Given the description of an element on the screen output the (x, y) to click on. 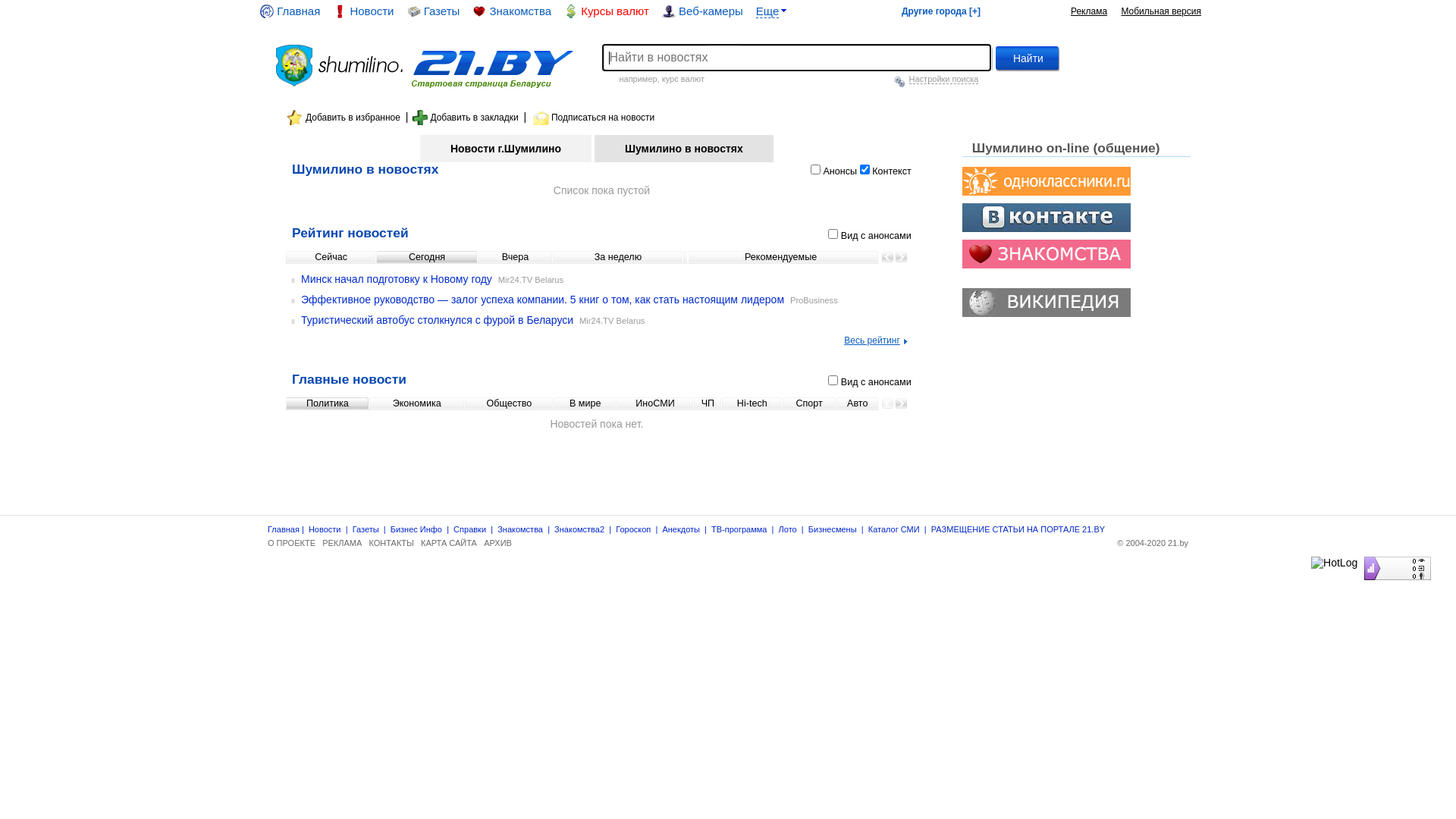
  Element type: text (341, 50)
ProBusiness Element type: text (813, 299)
Mir24.TV Belarus Element type: text (530, 279)
Mir24.TV Belarus Element type: text (611, 320)
Hi-tech Element type: text (751, 403)
LiveInternet Element type: hover (1360, 556)
